Given the description of an element on the screen output the (x, y) to click on. 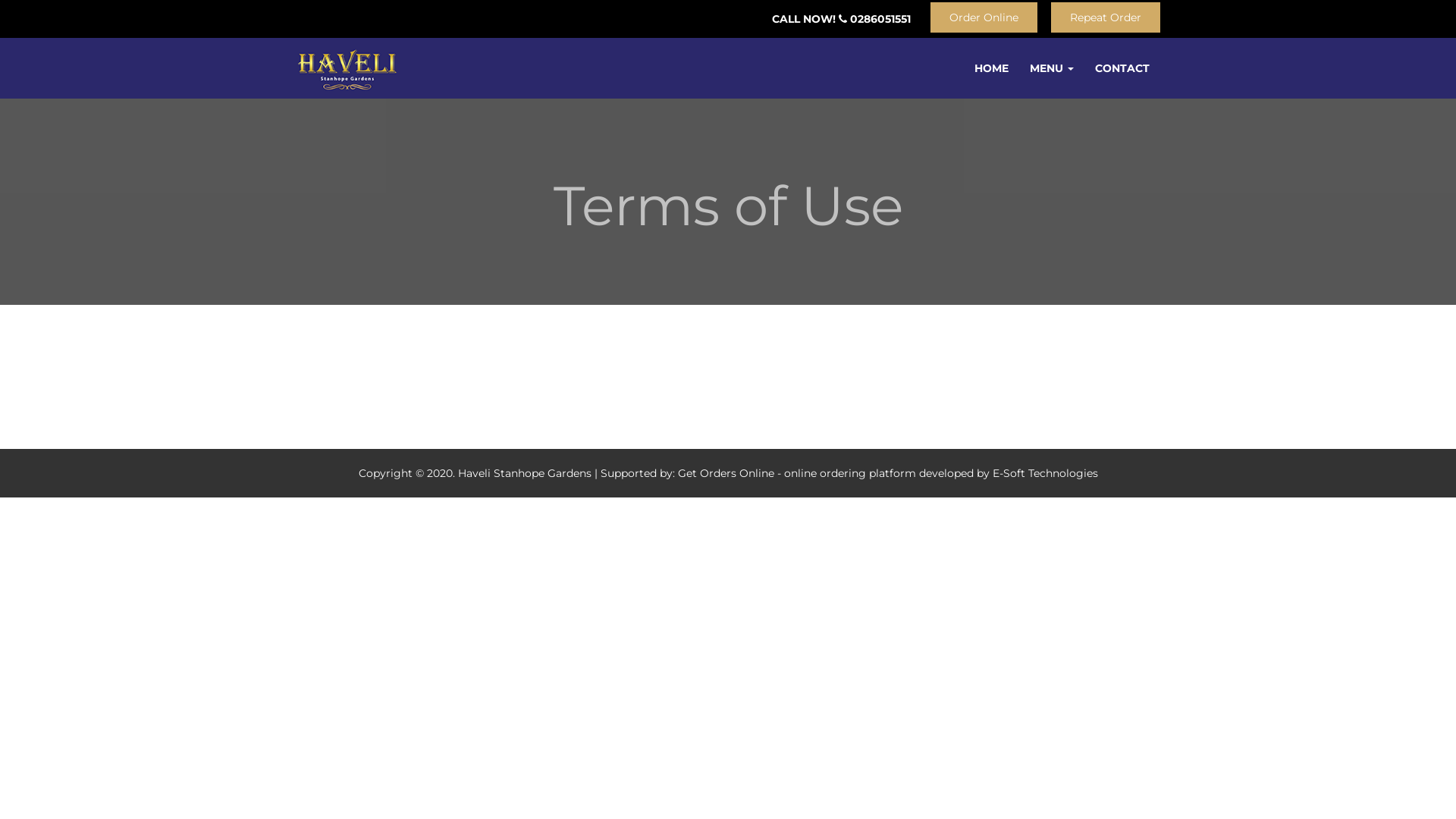
CALL NOW! 0286051551 Element type: text (840, 18)
CONTACT Element type: text (1122, 68)
MENU Element type: text (1051, 68)
Repeat Order Element type: text (1105, 17)
HOME Element type: text (991, 68)
Order Online Element type: text (983, 17)
